Given the description of an element on the screen output the (x, y) to click on. 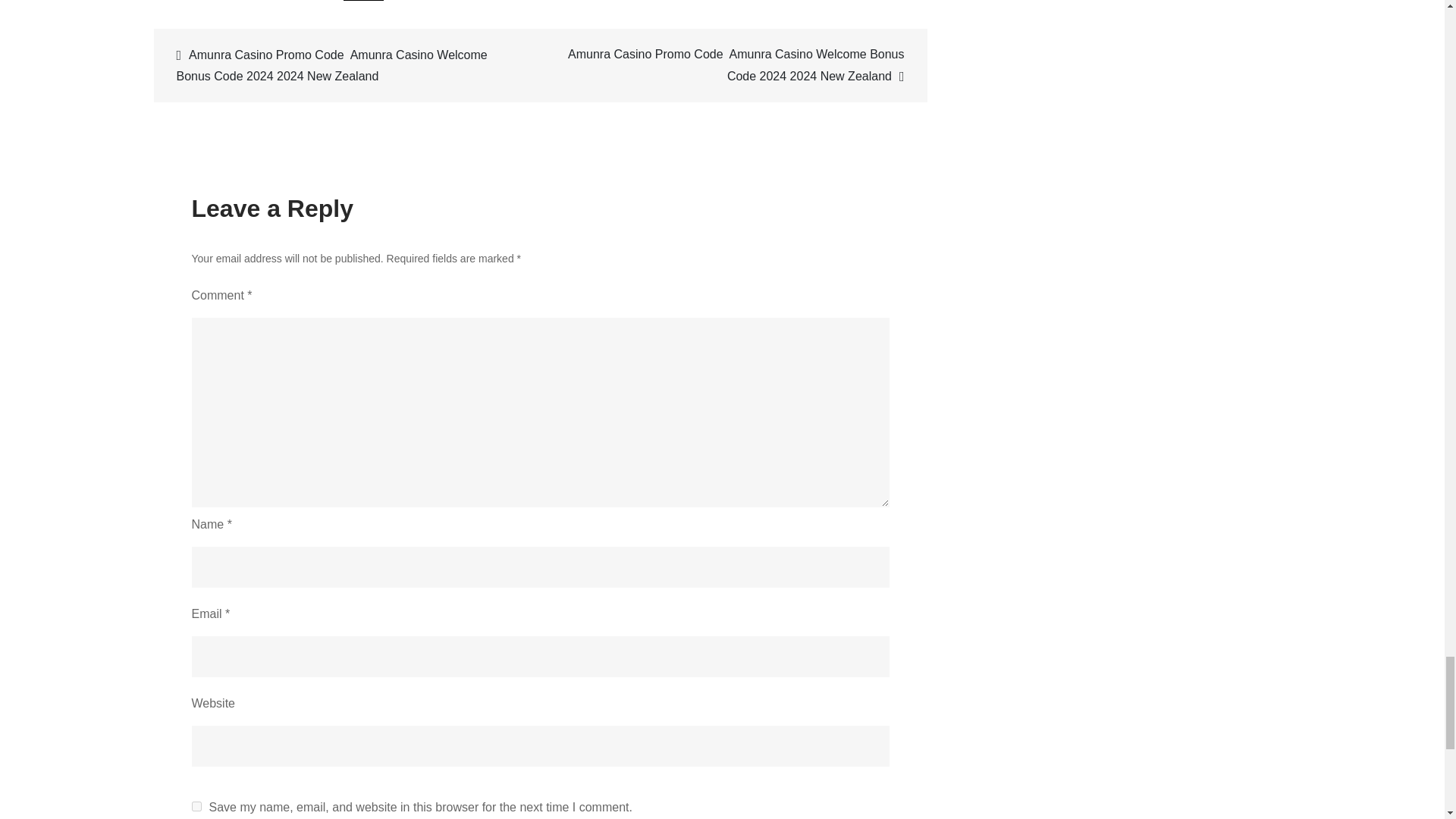
yes (195, 806)
BLOG (363, 0)
